Given the description of an element on the screen output the (x, y) to click on. 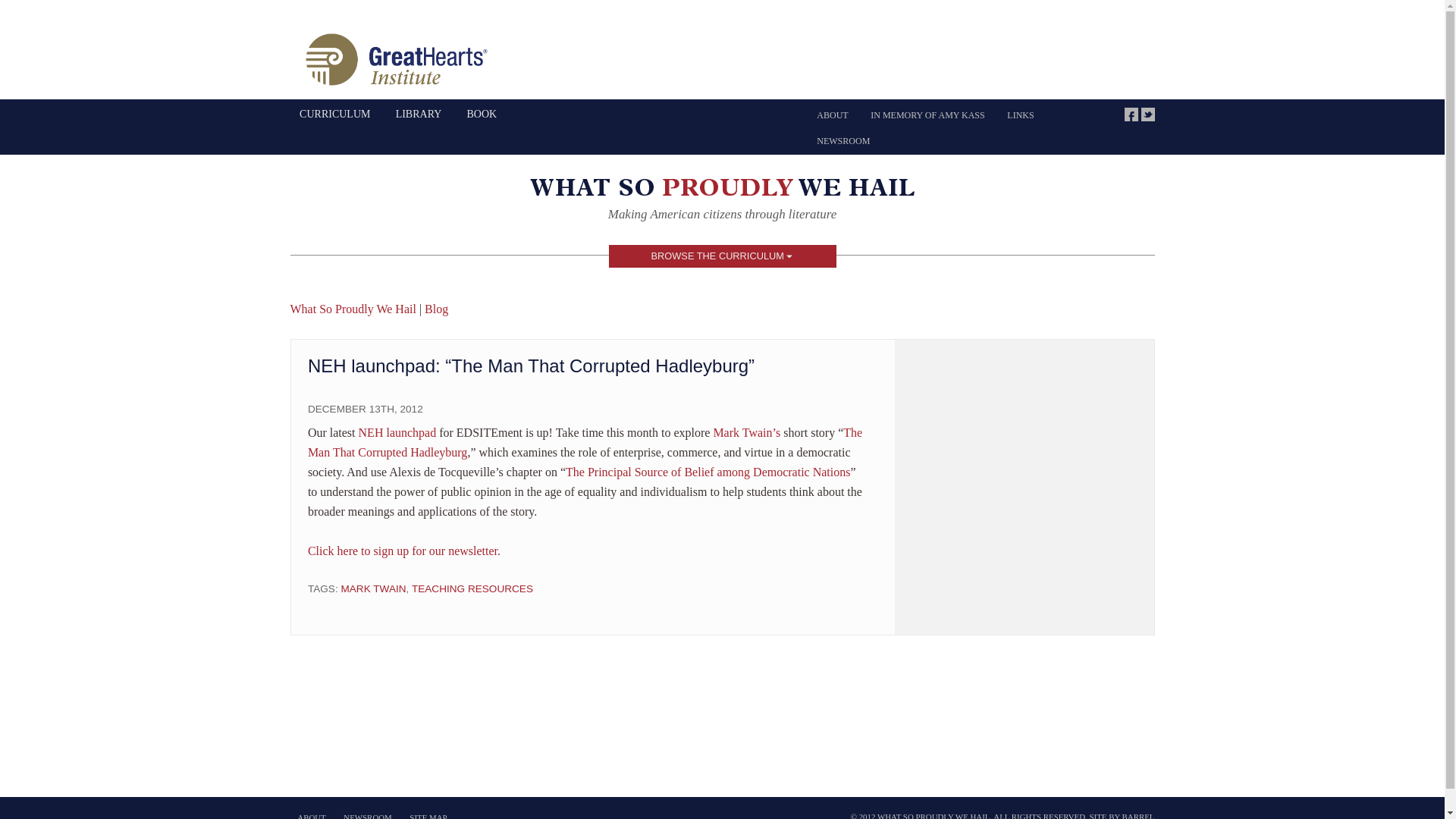
What So Proudly We Hail (721, 191)
BROWSE THE CURRICULUM (721, 255)
ABOUT (832, 115)
BOOK (481, 114)
LIBRARY (418, 114)
FACEBOOK (1131, 114)
CURRICULUM (334, 114)
LINKS (1020, 115)
TWITTER (1147, 114)
IN MEMORY OF AMY KASS (926, 115)
NEWSROOM (842, 141)
